Given the description of an element on the screen output the (x, y) to click on. 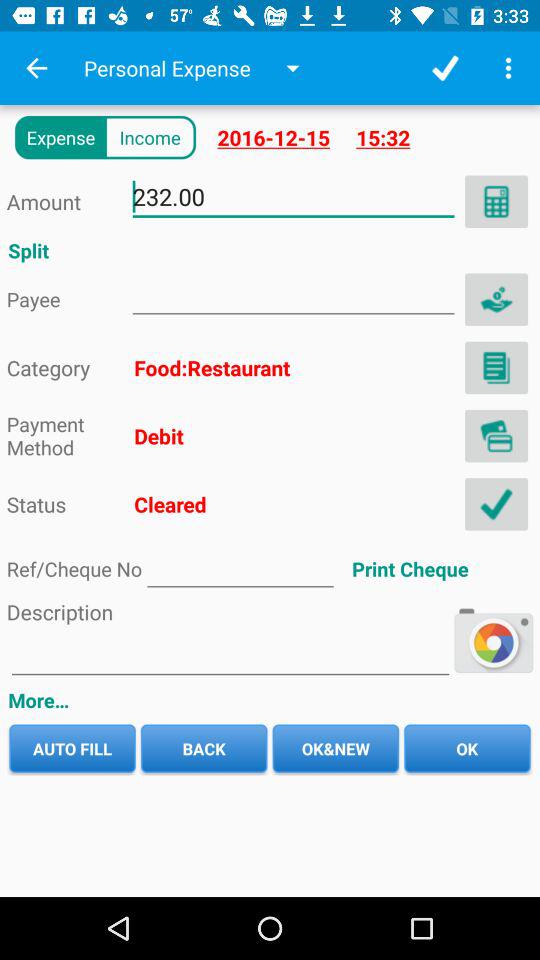
type the cheque no (240, 567)
